Given the description of an element on the screen output the (x, y) to click on. 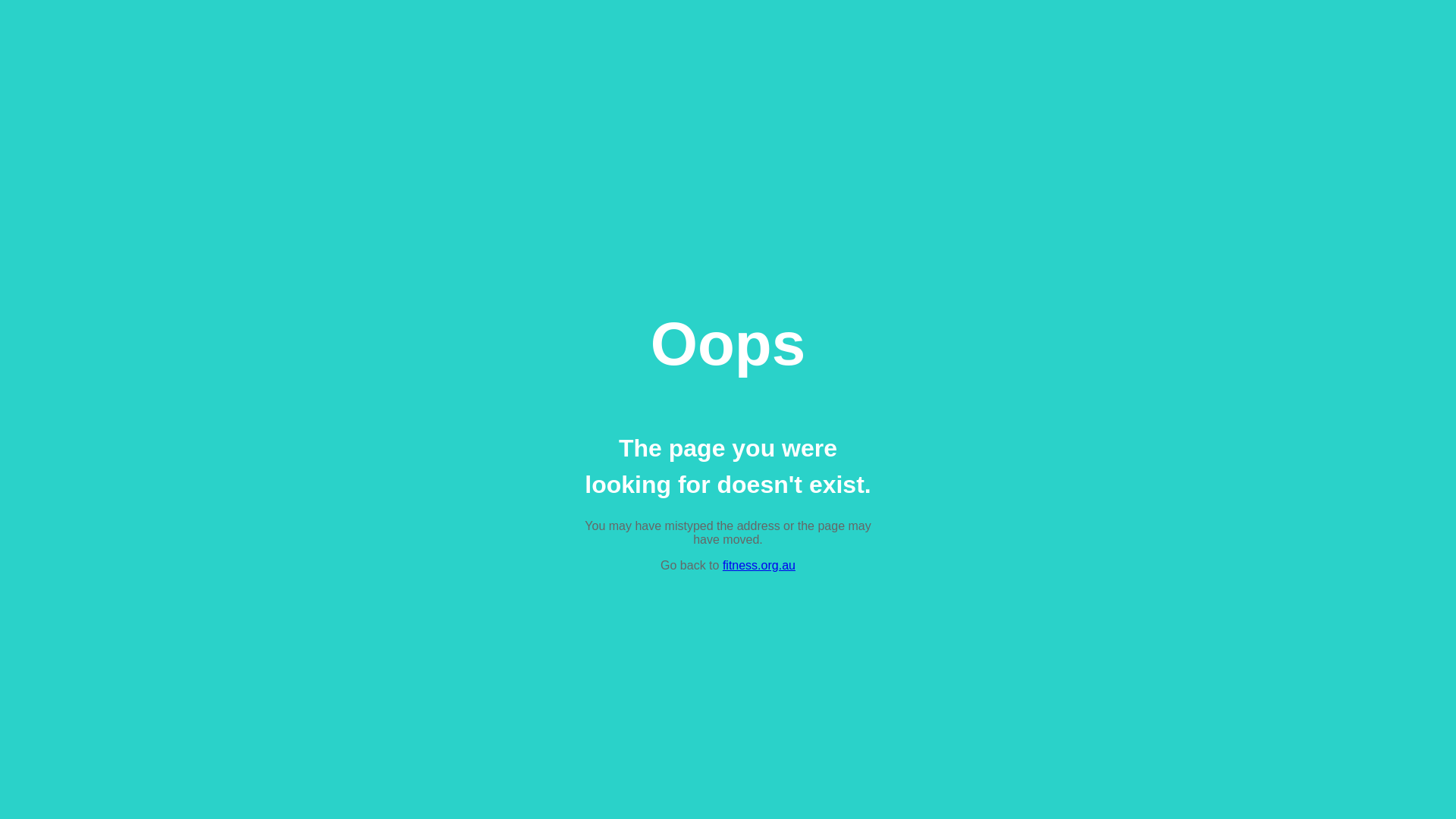
fitness.org.au Element type: text (758, 564)
